Given the description of an element on the screen output the (x, y) to click on. 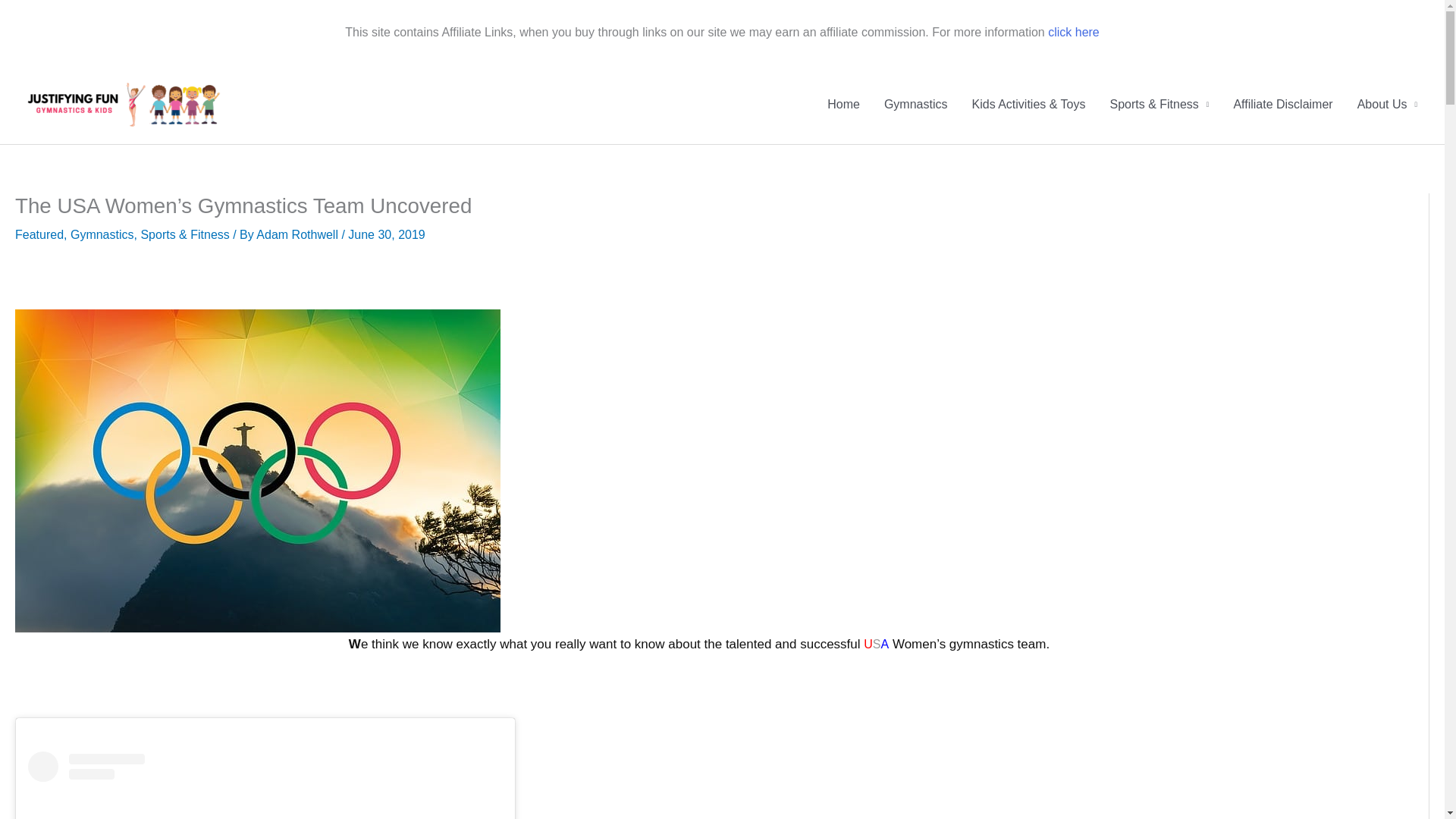
Gymnastics (915, 104)
Affiliate Disclaimer (1282, 104)
View this post on Instagram (264, 785)
click here (1073, 31)
Gymnastics (101, 234)
About Us (1387, 104)
View all posts by Adam Rothwell (296, 234)
Adam Rothwell (296, 234)
Featured (39, 234)
